Given the description of an element on the screen output the (x, y) to click on. 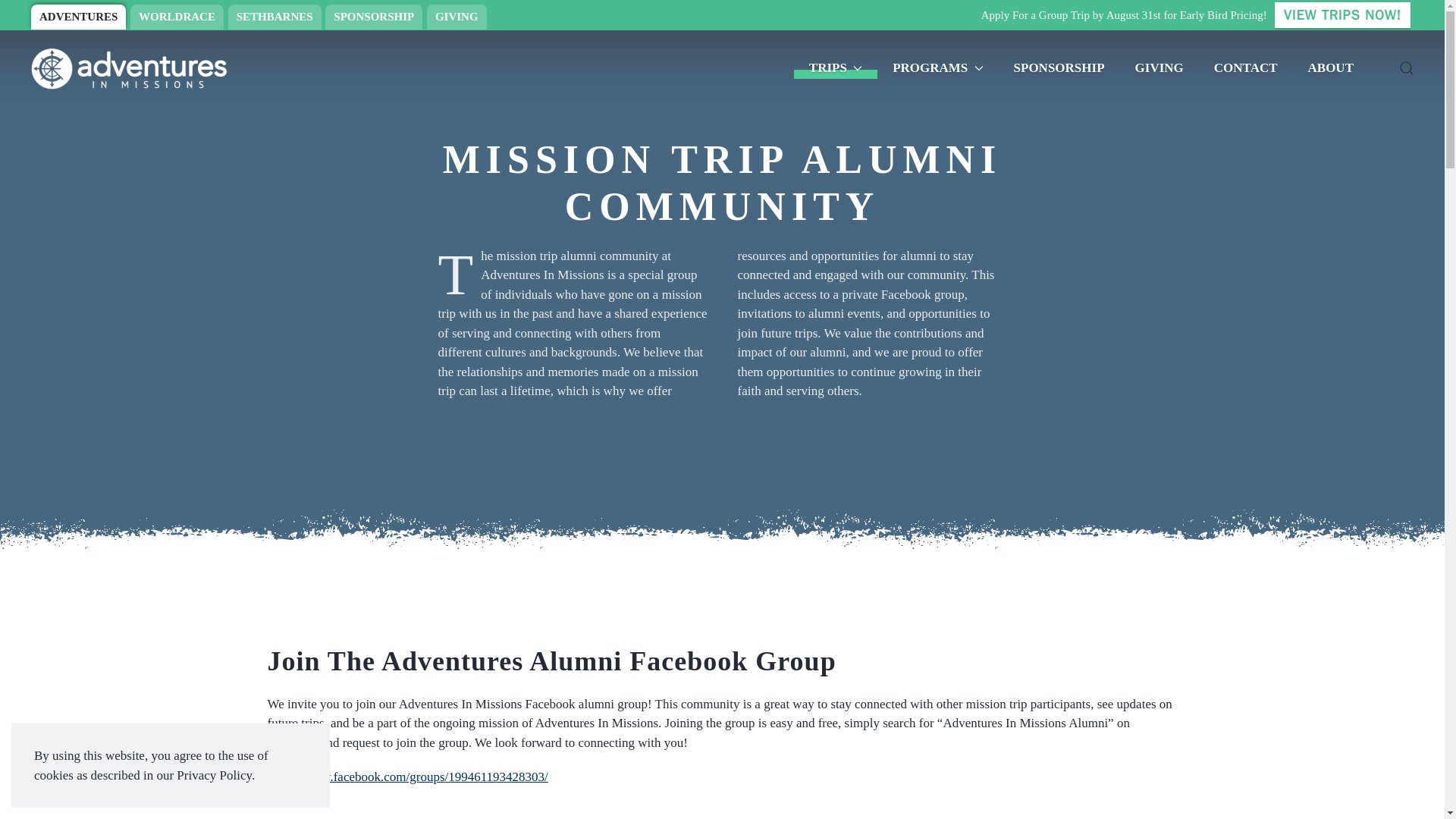
SETHBARNES (274, 16)
WORLDRACE (177, 16)
SPONSORSHIP (373, 16)
GIVING (456, 16)
ADVENTURES (77, 16)
VIEW TRIPS NOW! (1342, 14)
